Given the description of an element on the screen output the (x, y) to click on. 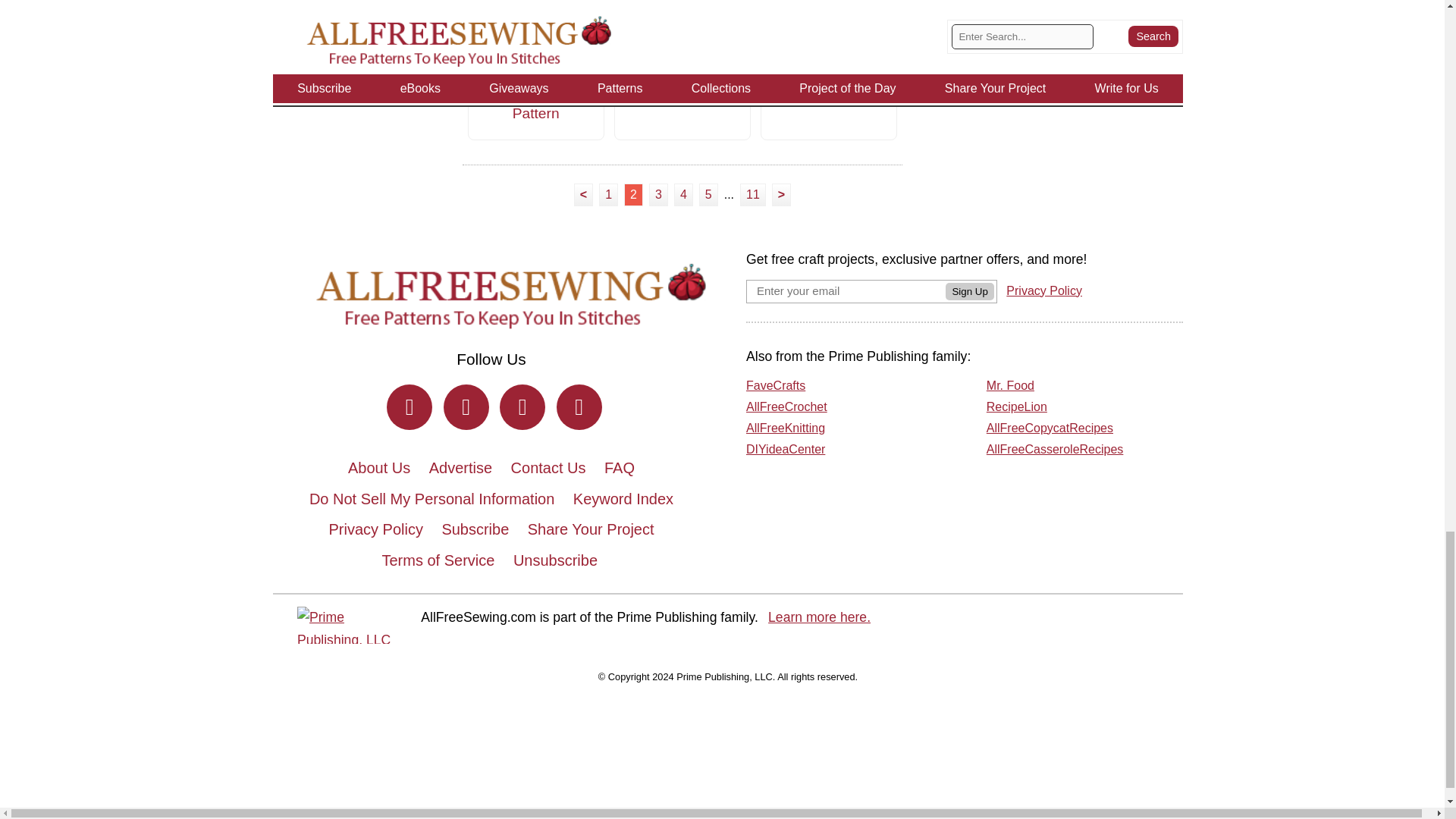
Go to Page 3 (658, 194)
Go to Page 1 (608, 194)
Go to Page 4 (683, 194)
Go to Page 5 (707, 194)
Go to Previous Page (582, 194)
